Given the description of an element on the screen output the (x, y) to click on. 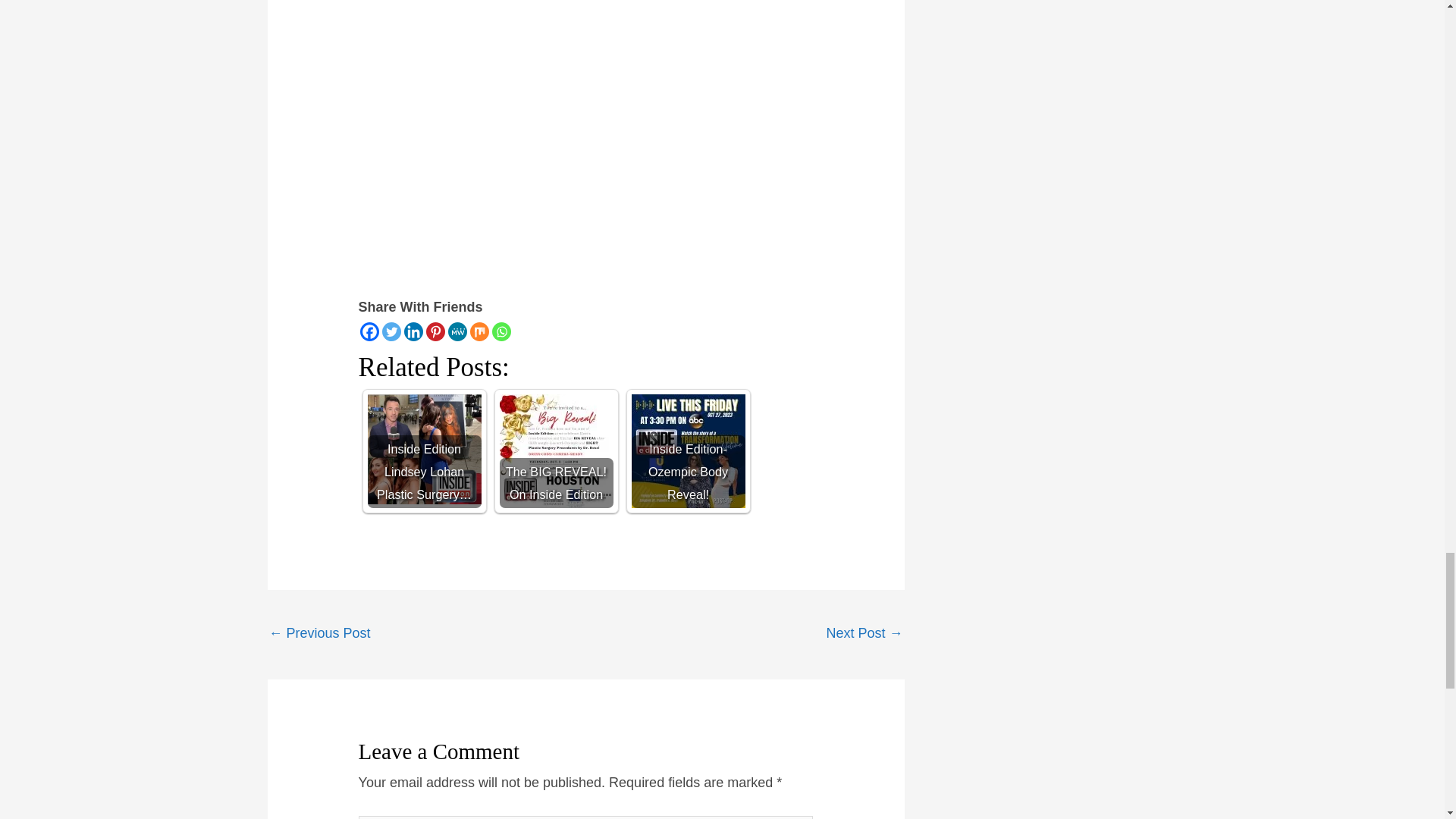
Whatsapp (501, 331)
Inside Edition-Ozempic Body Reveal! (688, 450)
Inside Edition-Ozempic Body Reveal! (688, 450)
Facebook (368, 331)
The BIG REVEAL! On Inside Edition (555, 450)
The BIG REVEAL! On Inside Edition (555, 450)
Pinterest (435, 331)
Mix (479, 331)
MeWe (457, 331)
Linkedin (413, 331)
Twitter (391, 331)
